Given the description of an element on the screen output the (x, y) to click on. 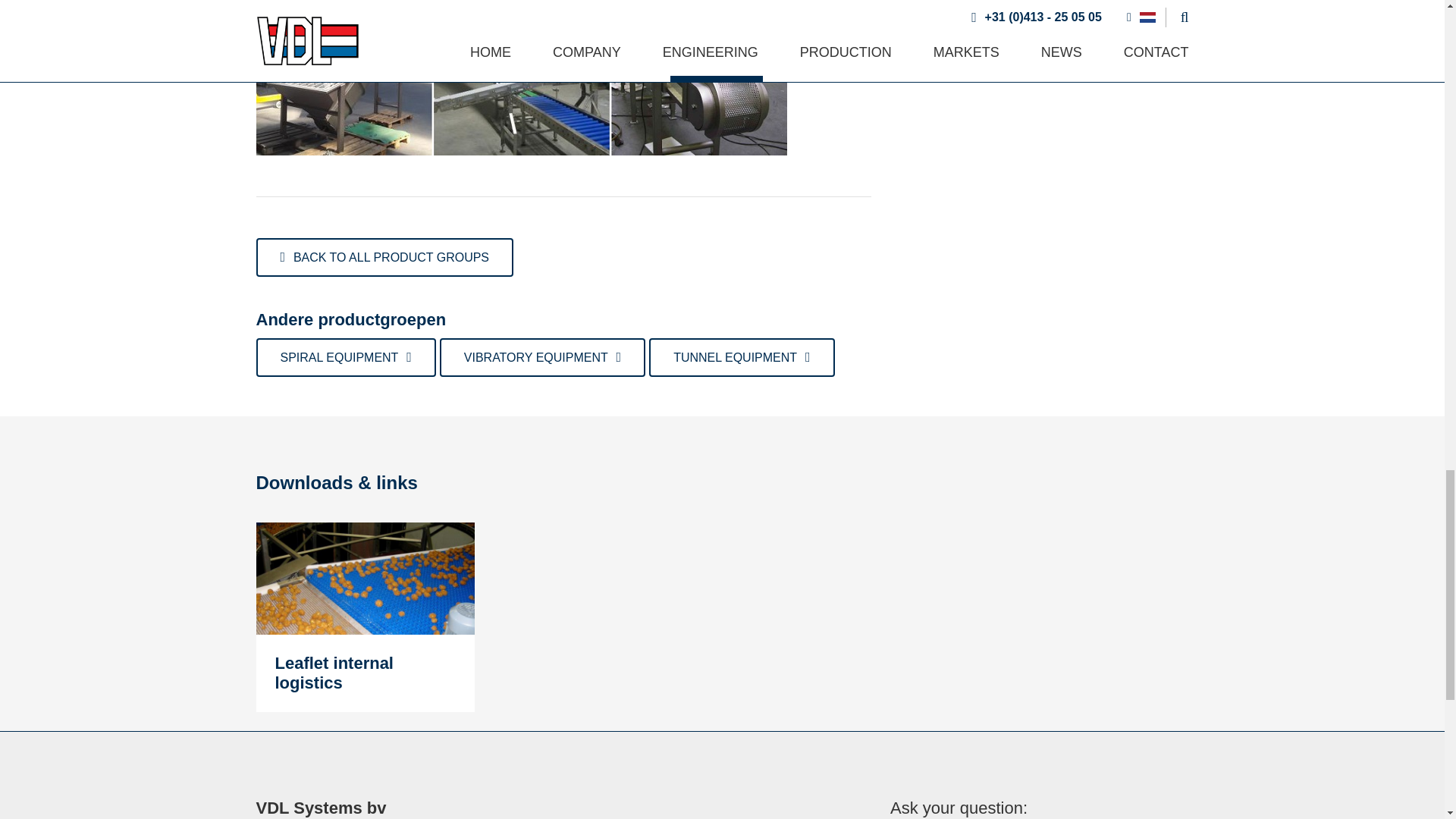
Productgroepen (384, 257)
Triltechniek (542, 357)
Spiraalvriezers (345, 357)
